Given the description of an element on the screen output the (x, y) to click on. 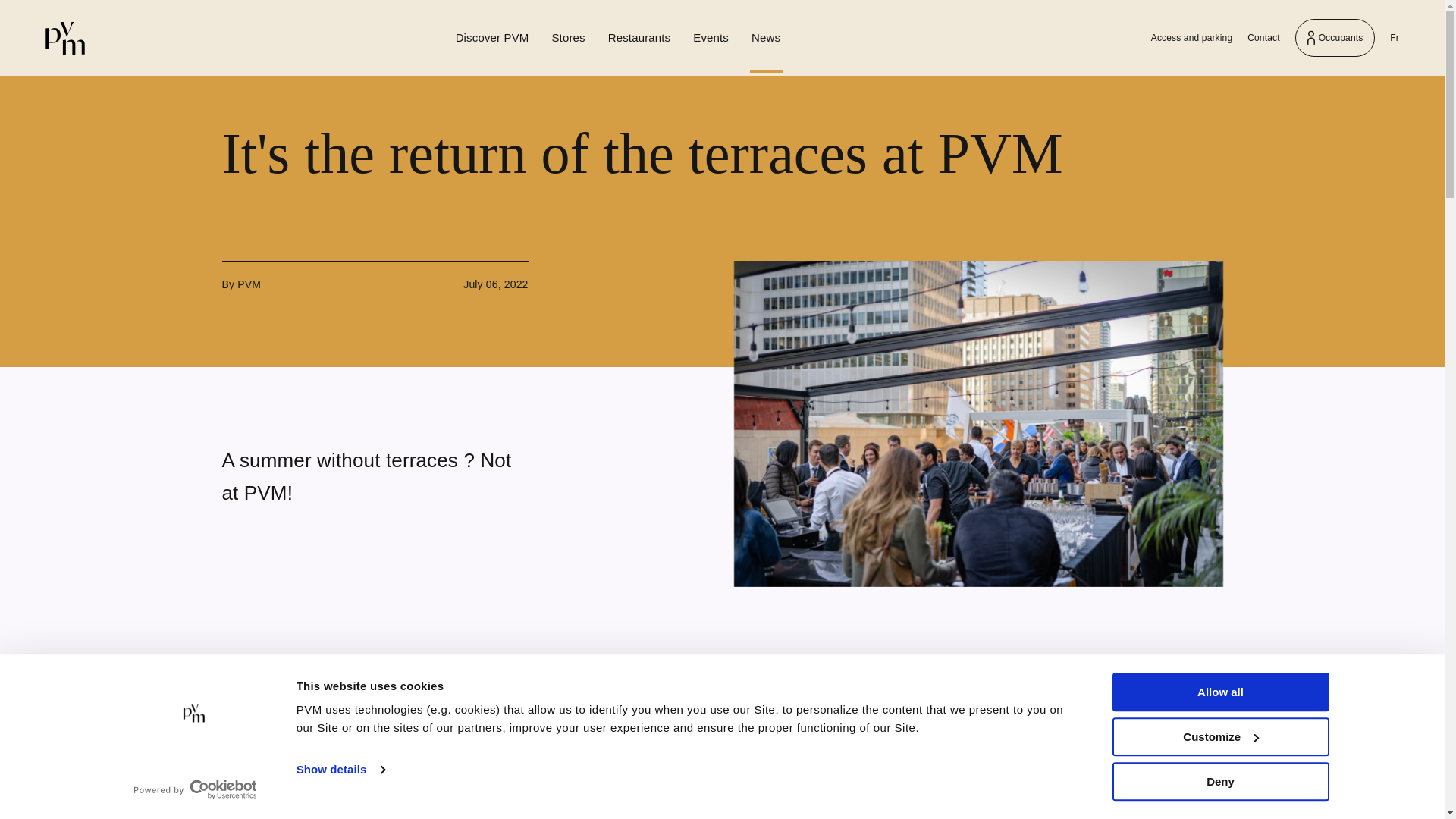
Show details (340, 769)
A summer without terraces ? Not at PVM! (374, 400)
Deny (374, 276)
Customize (1219, 781)
Place Ville Marie (1219, 736)
It's the return of the terraces at PVM (64, 38)
Place Ville Marie (722, 153)
Place Ville Marie (64, 38)
Allow all (64, 37)
